Given the description of an element on the screen output the (x, y) to click on. 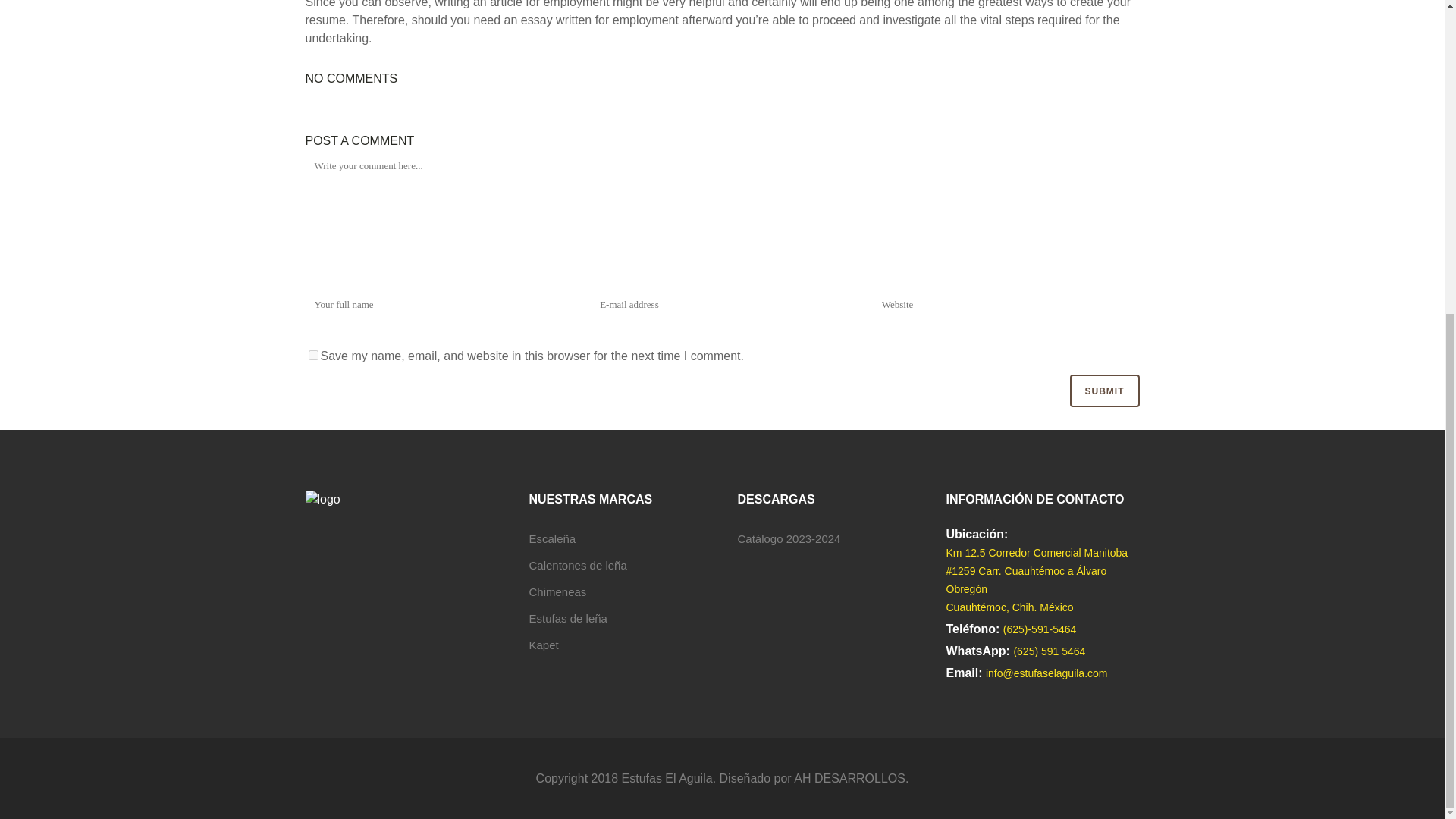
Submit (1103, 390)
yes (312, 355)
Chimeneas (557, 591)
Kapet (544, 644)
Submit (1103, 390)
